Given the description of an element on the screen output the (x, y) to click on. 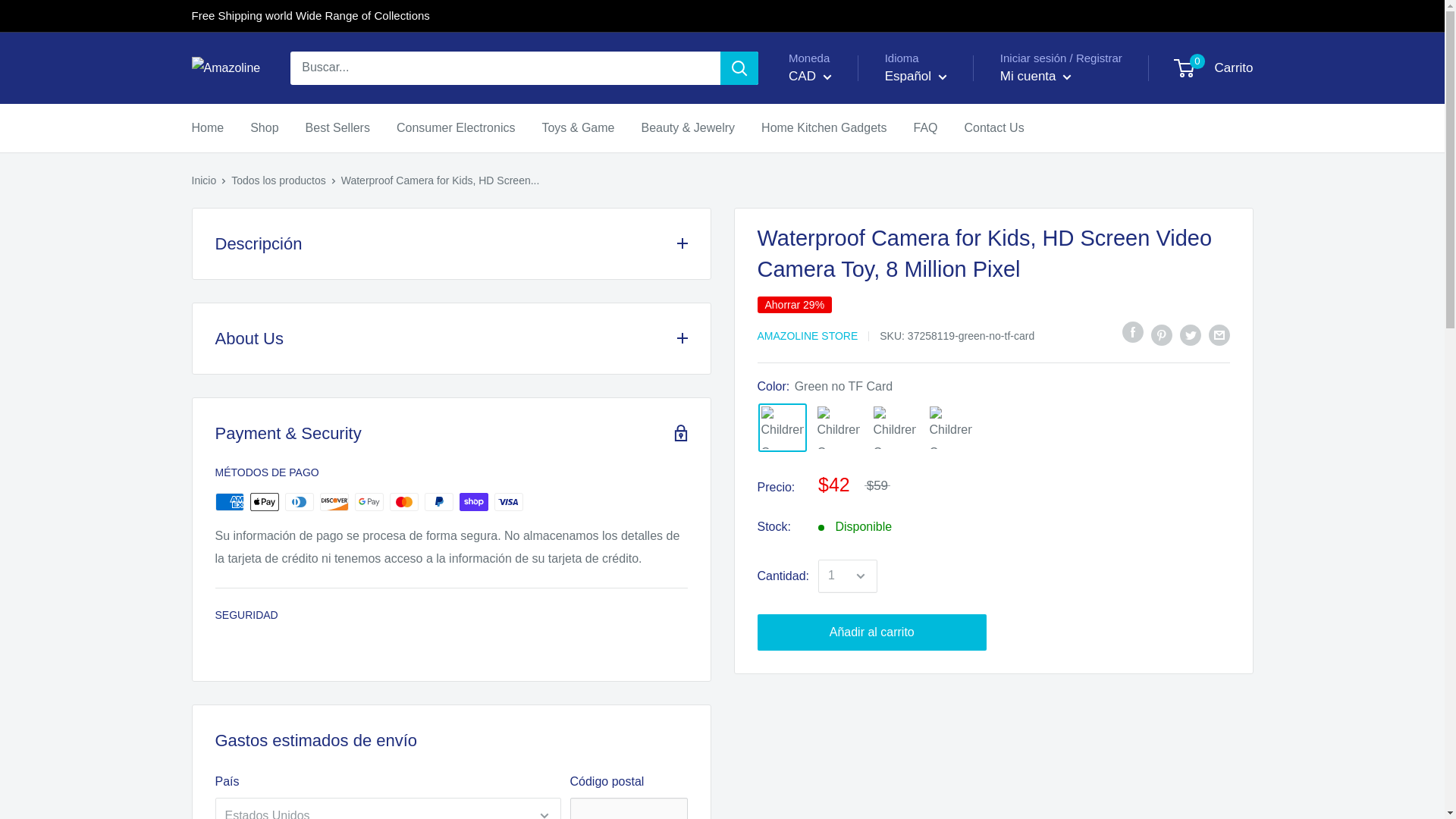
CAD (810, 76)
CAD (821, 117)
32GB TF Card (838, 427)
Blue no TF Card (950, 427)
Green no TF Card (782, 427)
Free Shipping world Wide Range of Collections (309, 15)
USD (821, 140)
Pink no TF Card (894, 427)
